Given the description of an element on the screen output the (x, y) to click on. 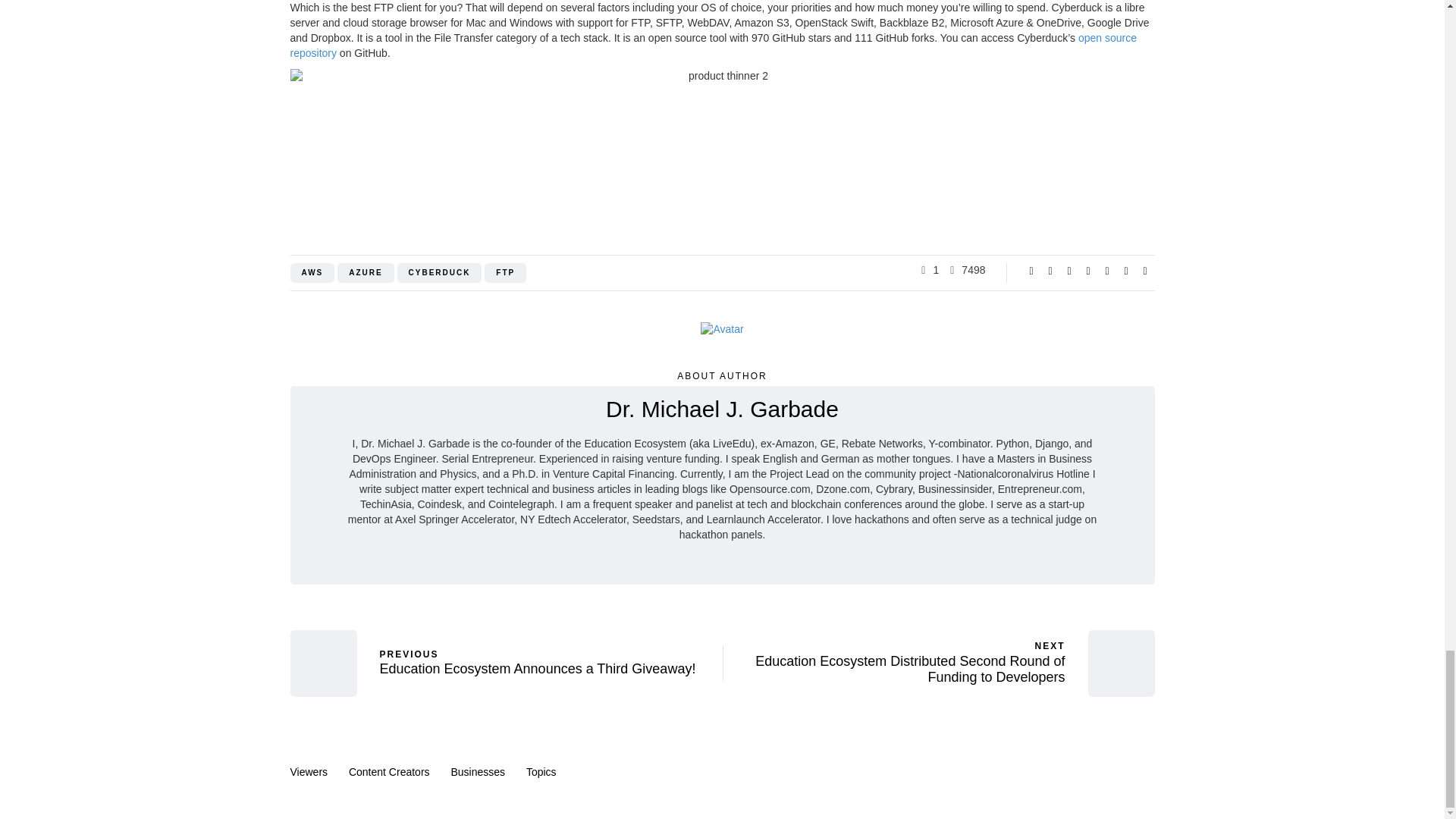
Share with LinkedIn (1087, 270)
Pin this (1106, 270)
Share by Email (1144, 270)
Posts by Dr. Michael J. Garbade (721, 408)
Tweet this (1050, 270)
Share with Google Plus (1068, 270)
Share with Facebook (1031, 270)
Share with VKontakte (1125, 270)
